Given the description of an element on the screen output the (x, y) to click on. 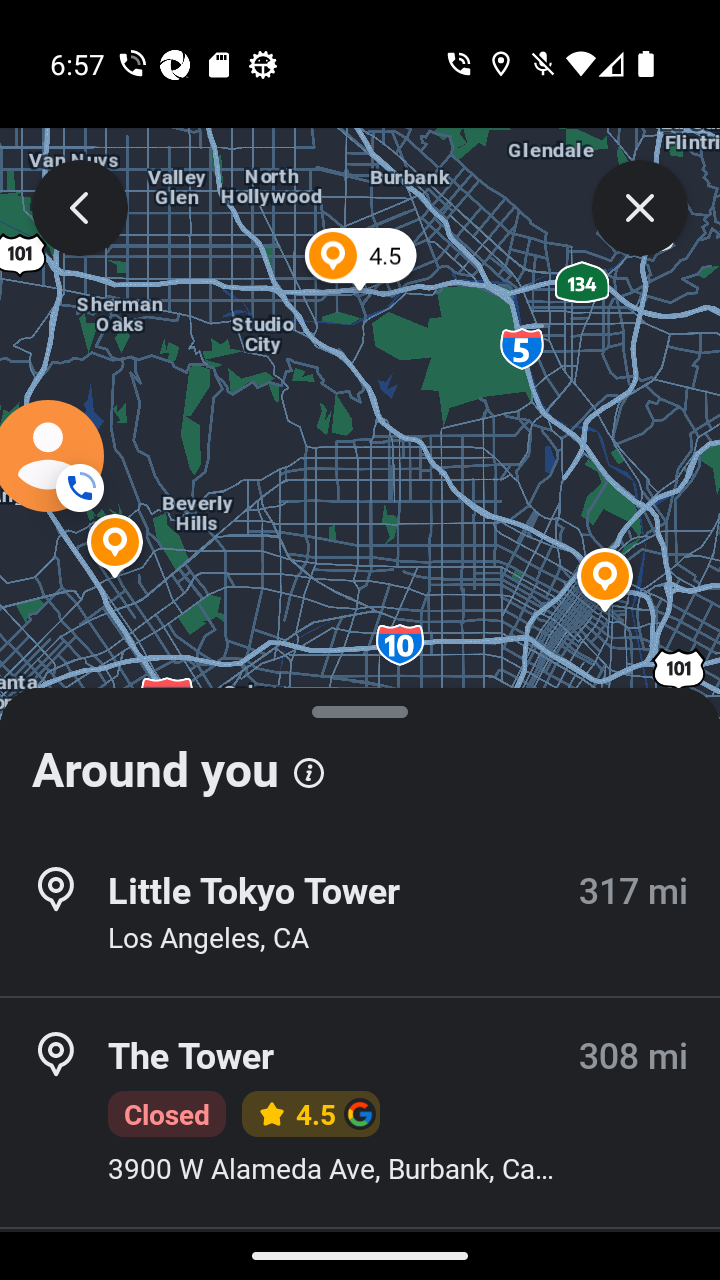
SUGGESTIONS_SHEET_DRAG_HANDLE (359, 735)
Home (360, 1262)
